Given the description of an element on the screen output the (x, y) to click on. 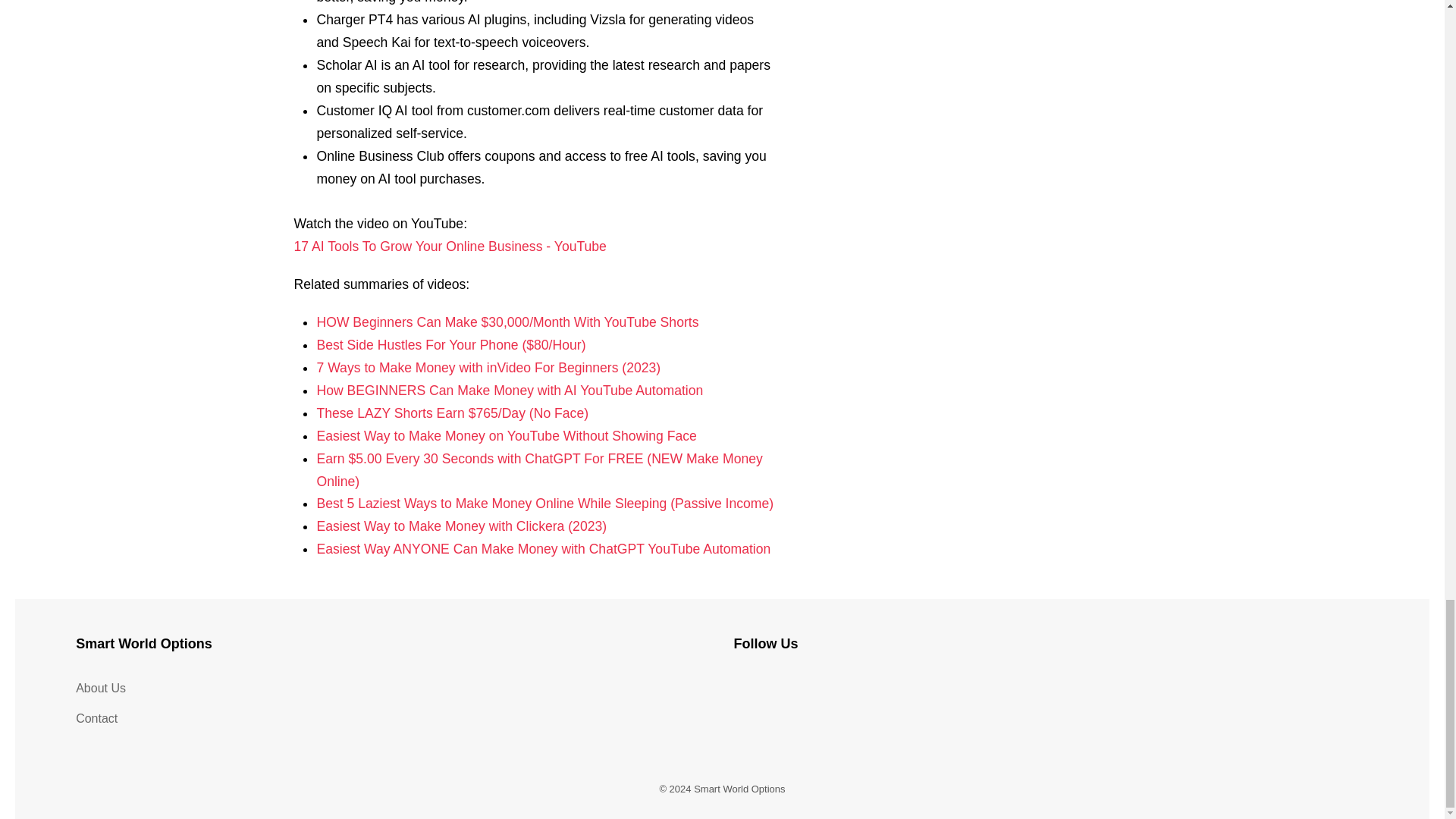
Easiest Way to Make Money on YouTube Without Showing Face (505, 435)
About Us (392, 688)
Contact (392, 718)
17 AI Tools To Grow Your Online Business - YouTube (449, 246)
How BEGINNERS Can Make Money with AI YouTube Automation (509, 390)
